Given the description of an element on the screen output the (x, y) to click on. 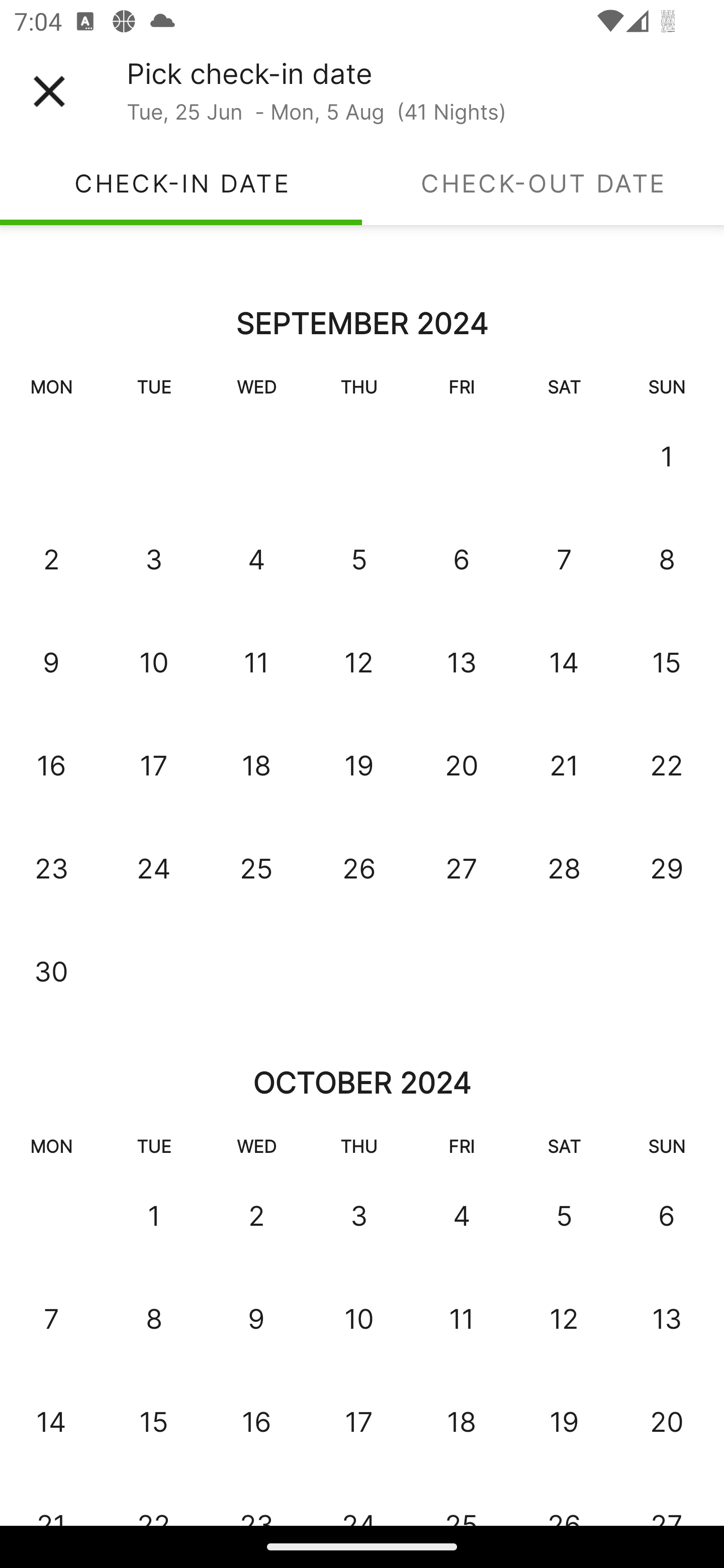
Check-out Date CHECK-OUT DATE (543, 183)
